Given the description of an element on the screen output the (x, y) to click on. 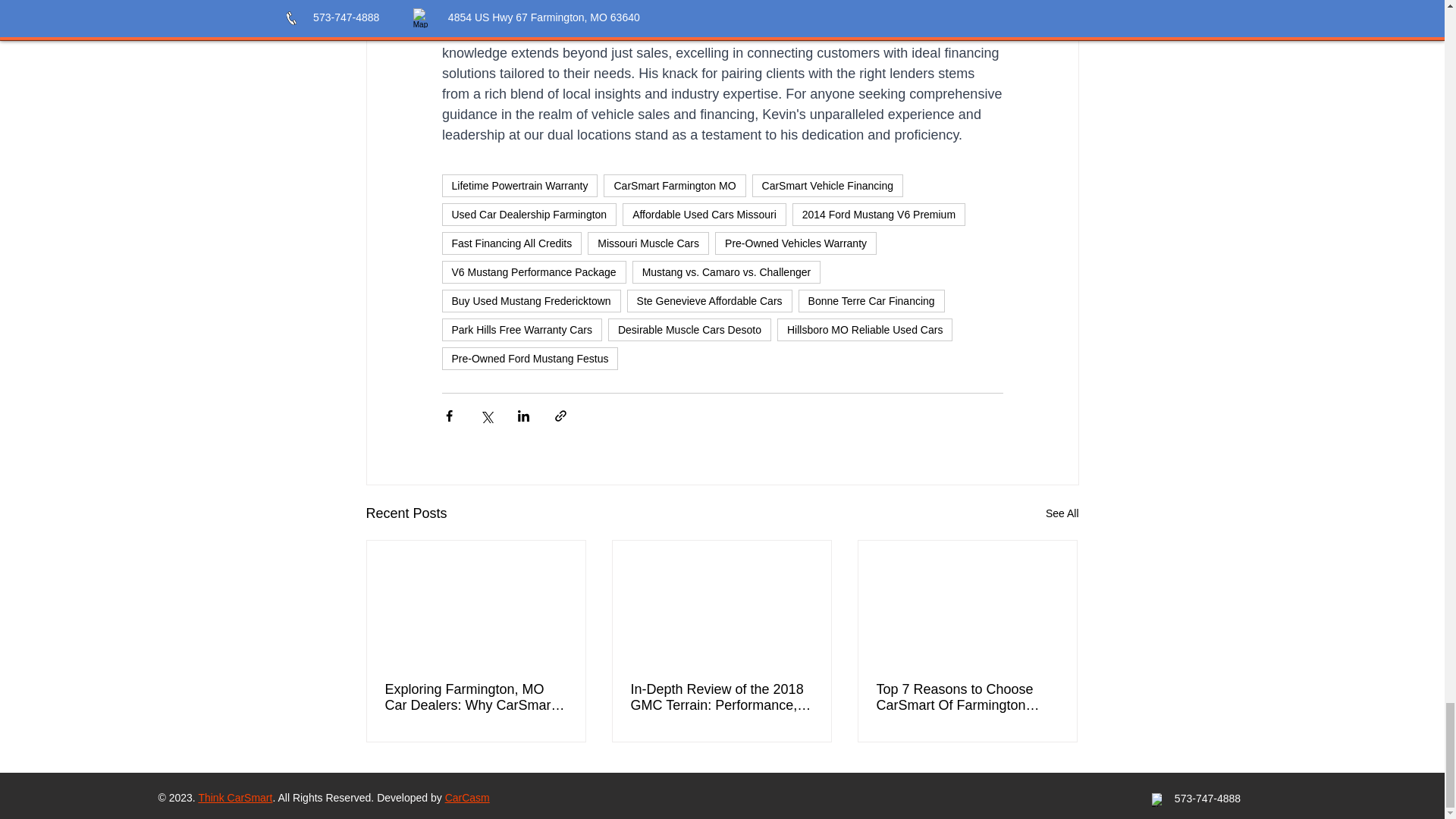
Desirable Muscle Cars Desoto (689, 329)
CarCasm (467, 797)
Bonne Terre Car Financing (870, 300)
CarSmart Farmington MO (674, 185)
Think CarSmart (235, 797)
Hillsboro MO Reliable Used Cars (864, 329)
2014 Ford Mustang V6 Premium (878, 214)
V6 Mustang Performance Package (533, 272)
See All (1061, 513)
Park Hills Free Warranty Cars (521, 329)
Mustang vs. Camaro vs. Challenger (726, 272)
Used Car Dealership Farmington (528, 214)
Affordable Used Cars Missouri (704, 214)
